Given the description of an element on the screen output the (x, y) to click on. 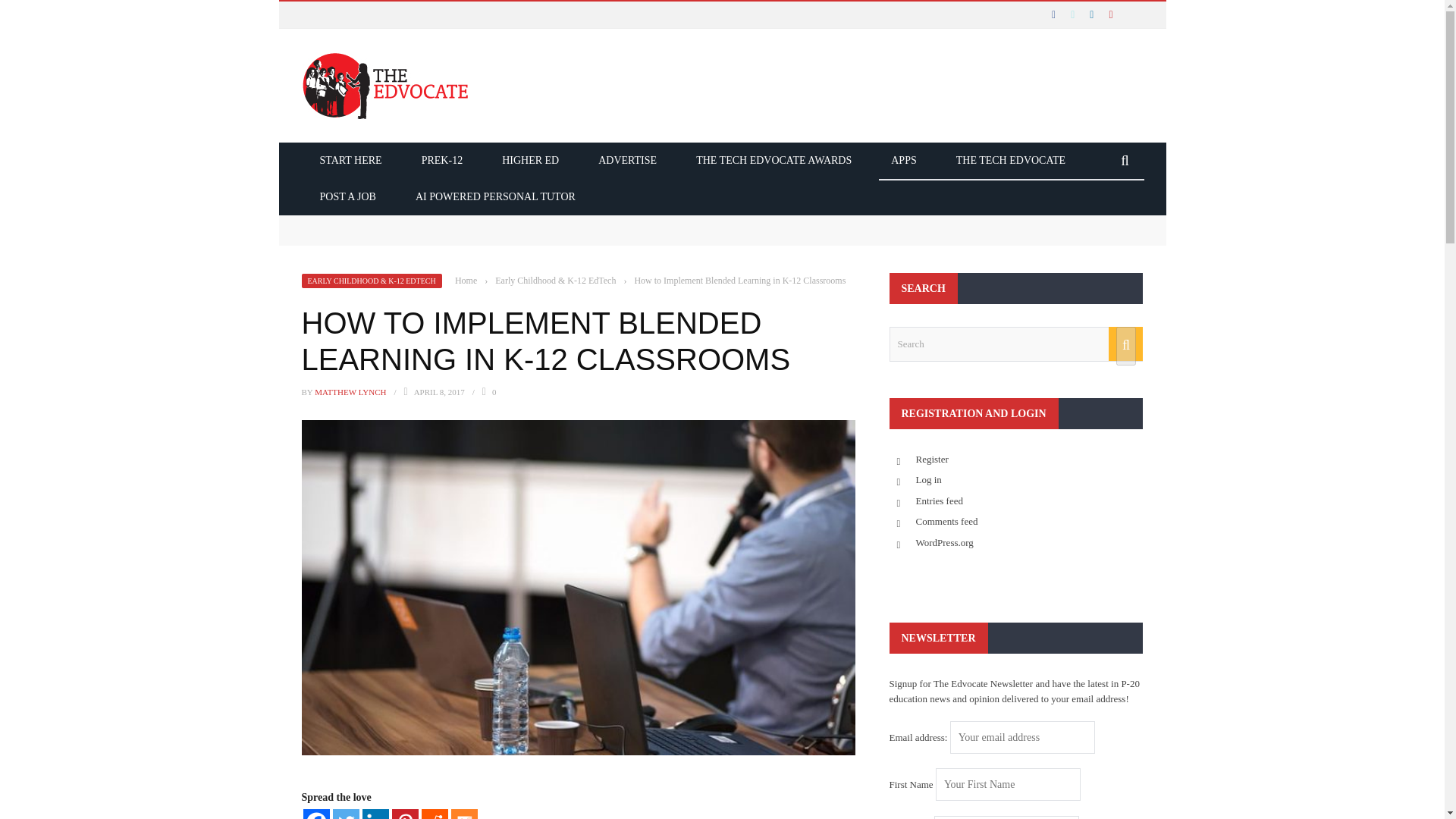
Search (1015, 343)
Twitter (344, 814)
Reddit (435, 814)
Linkedin (375, 814)
Facebook (316, 814)
Pinterest (404, 814)
Mix (463, 814)
